Given the description of an element on the screen output the (x, y) to click on. 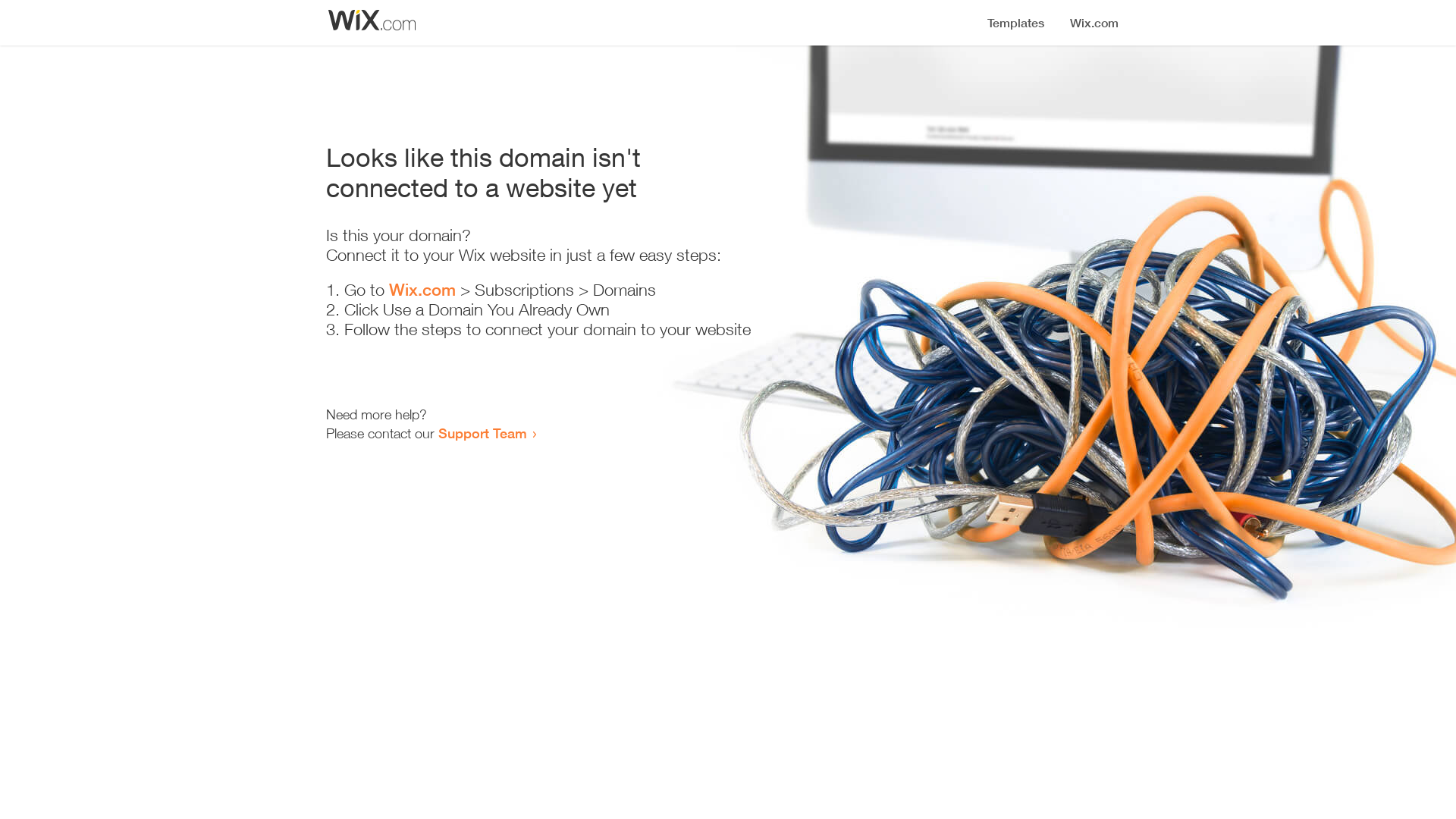
Support Team Element type: text (482, 432)
Wix.com Element type: text (422, 289)
